Given the description of an element on the screen output the (x, y) to click on. 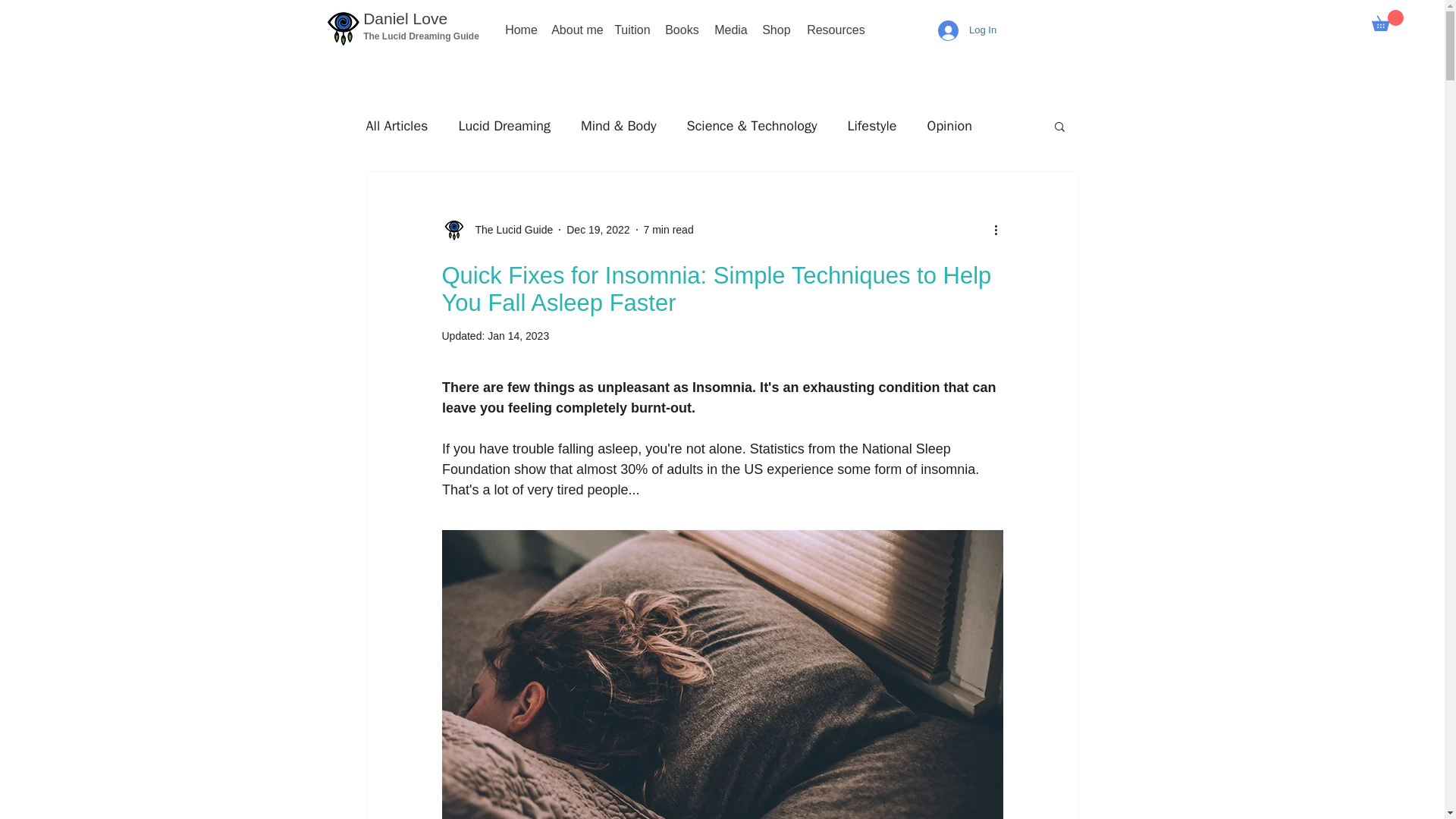
The Lucid Guide (497, 229)
7 min read (668, 228)
Books (678, 30)
Daniel Love (404, 18)
Jan 14, 2023 (517, 336)
Lifestyle (871, 126)
Log In (967, 30)
Shop (772, 30)
The Lucid Guide (509, 229)
Resources (827, 30)
Tuition (627, 30)
Opinion (949, 126)
Home (516, 30)
About me (571, 30)
Lucid Dreaming (504, 126)
